Given the description of an element on the screen output the (x, y) to click on. 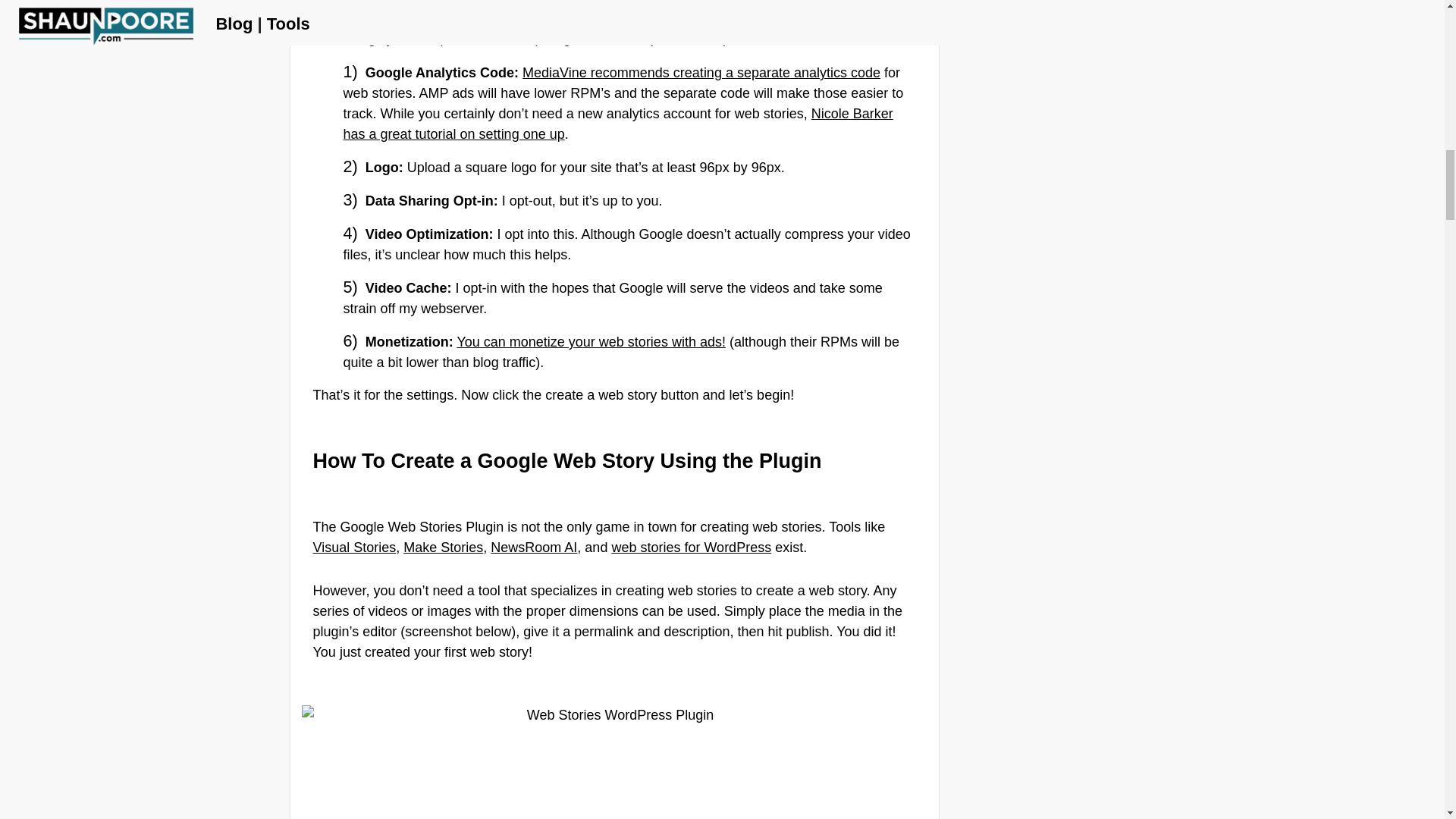
You can monetize your web stories with ads! (591, 341)
web stories for WordPress (691, 547)
Visual Stories (354, 547)
NewsRoom AI (533, 547)
Nicole Barker has a great tutorial on setting one up (617, 123)
MediaVine recommends creating a separate analytics code (701, 72)
Make Stories (443, 547)
